Given the description of an element on the screen output the (x, y) to click on. 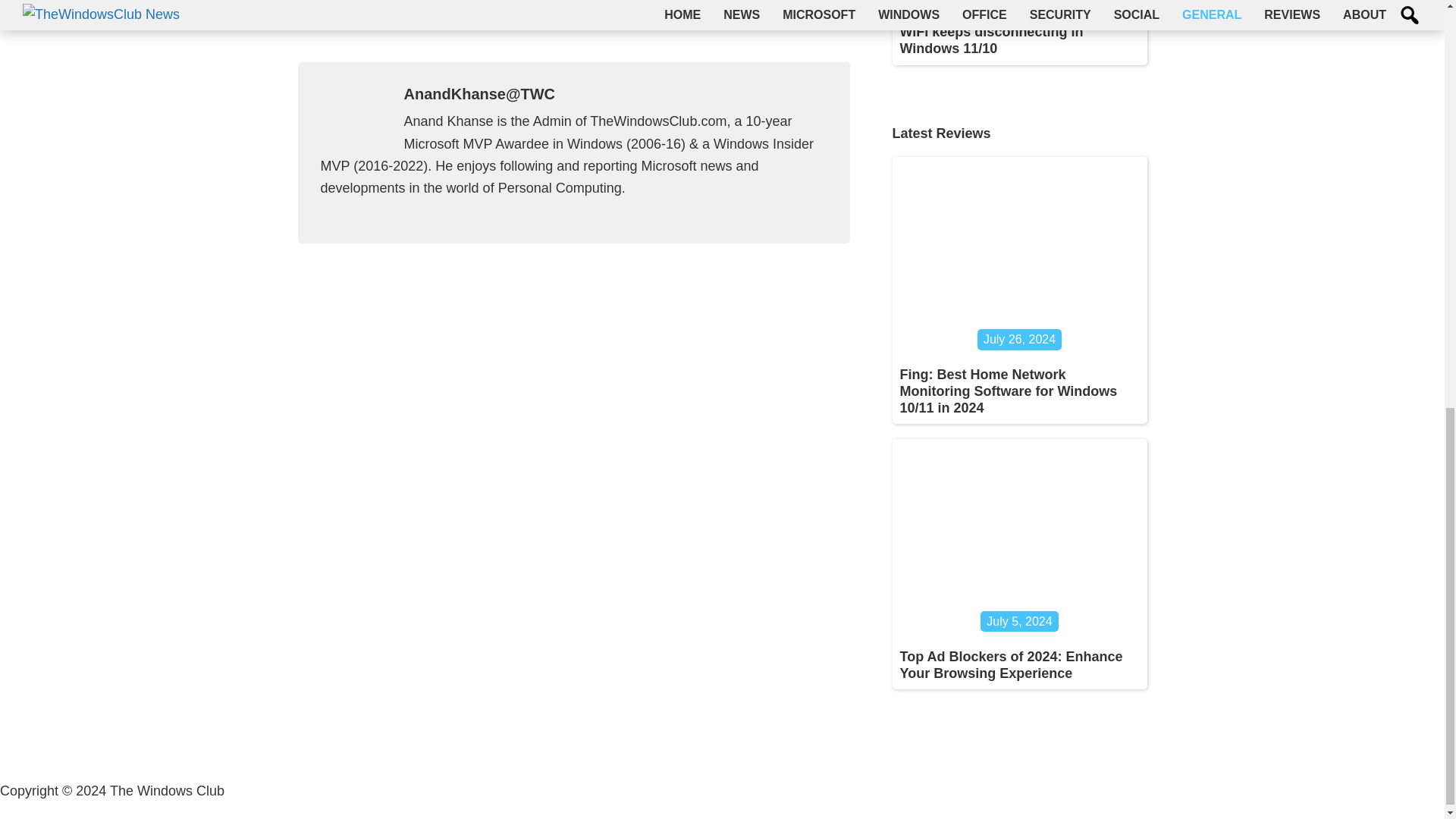
Apple (831, 21)
Top Ad Blockers of 2024: Enhance Your Browsing Experience (1010, 664)
